Given the description of an element on the screen output the (x, y) to click on. 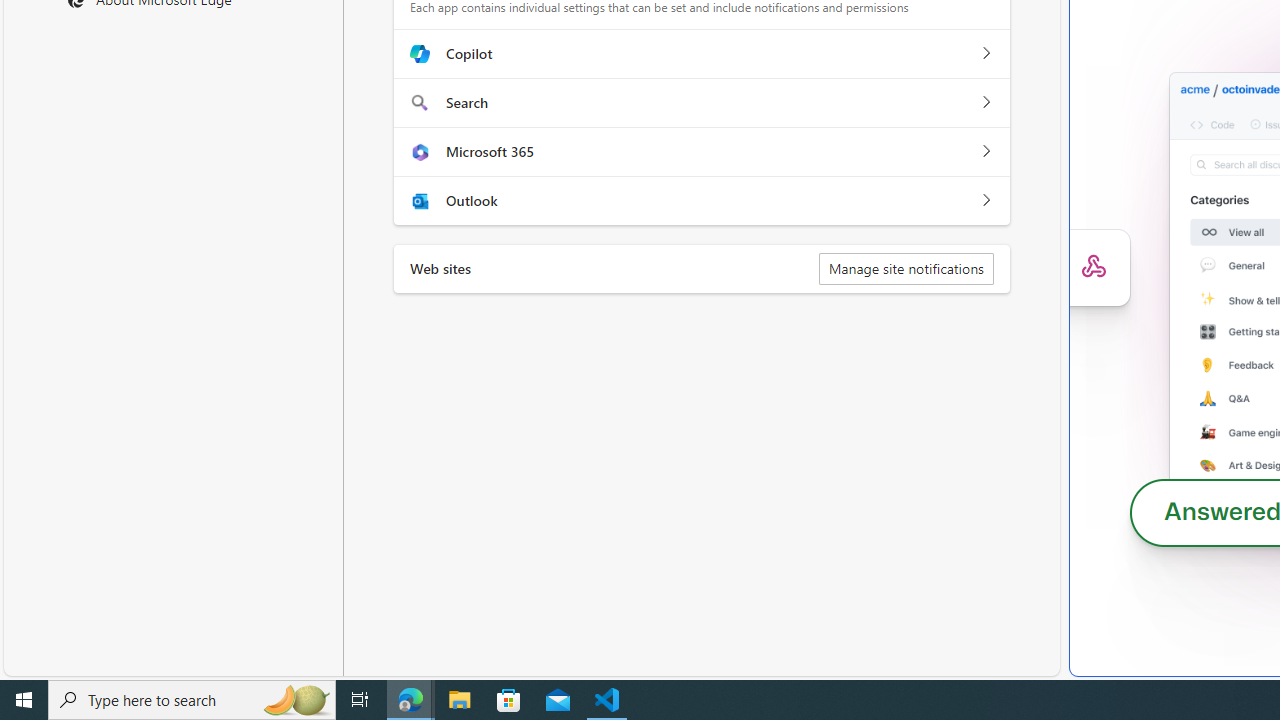
Copilot (985, 54)
Manage site notifications (905, 268)
